Given the description of an element on the screen output the (x, y) to click on. 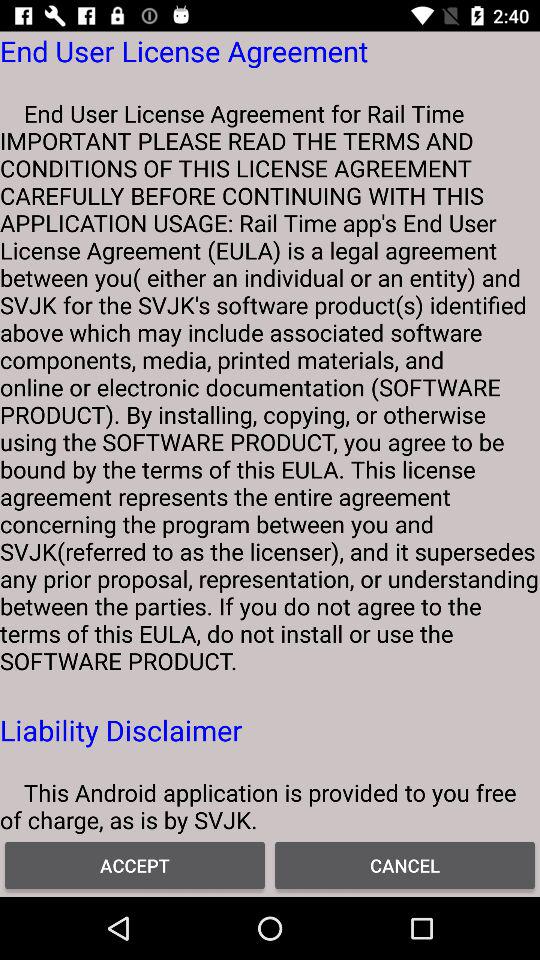
turn on the icon next to the cancel icon (135, 864)
